Given the description of an element on the screen output the (x, y) to click on. 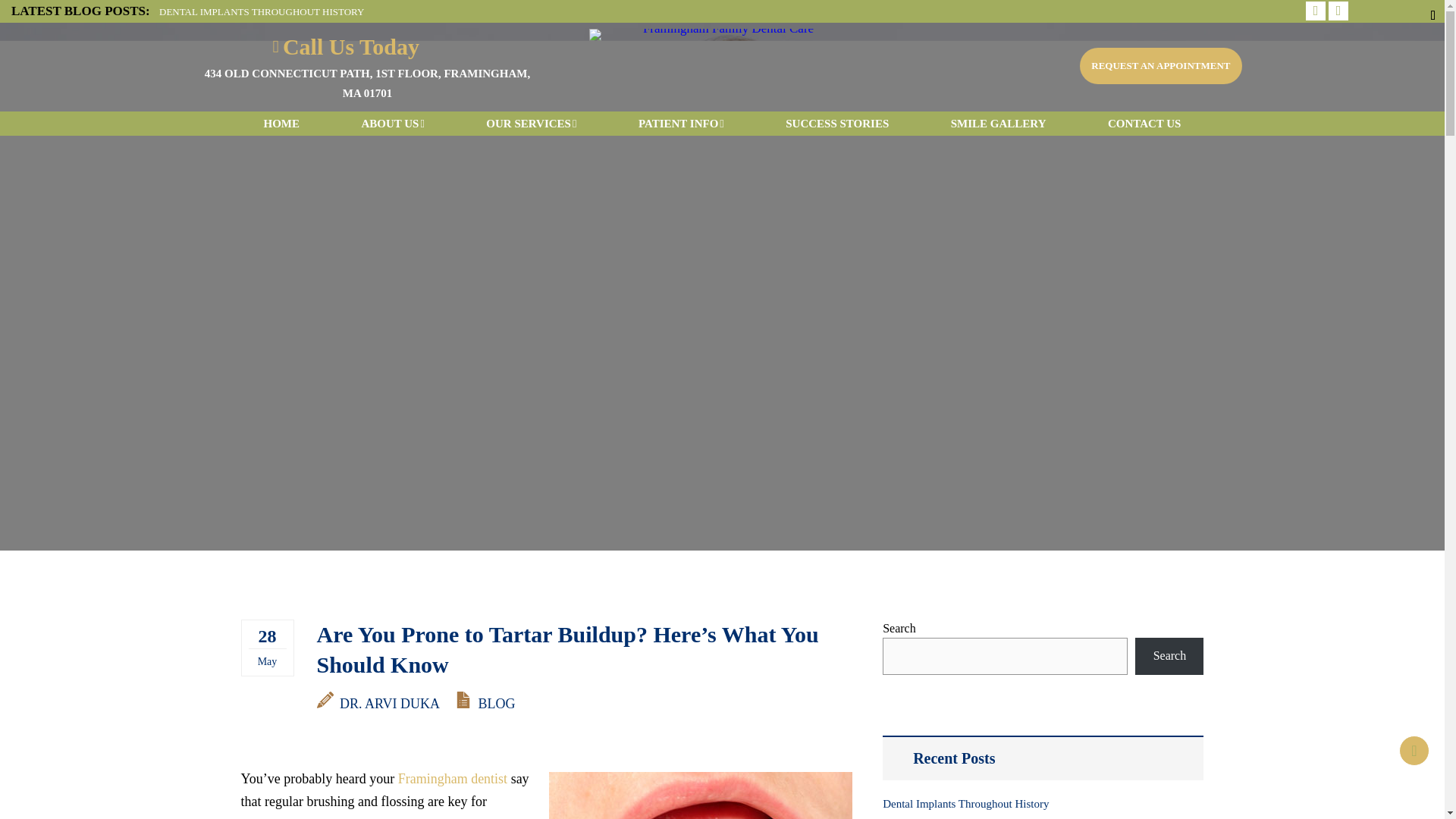
Next (1335, 11)
434 OLD CONNECTICUT PATH, 1ST FLOOR, FRAMINGHAM, MA 01701 (367, 83)
DENTAL IMPLANTS THROUGHOUT HISTORY (261, 11)
REQUEST AN APPOINTMENT (1160, 65)
HOME (281, 123)
OUR SERVICES (531, 123)
ABOUT US (392, 123)
Previous (1313, 11)
